Given the description of an element on the screen output the (x, y) to click on. 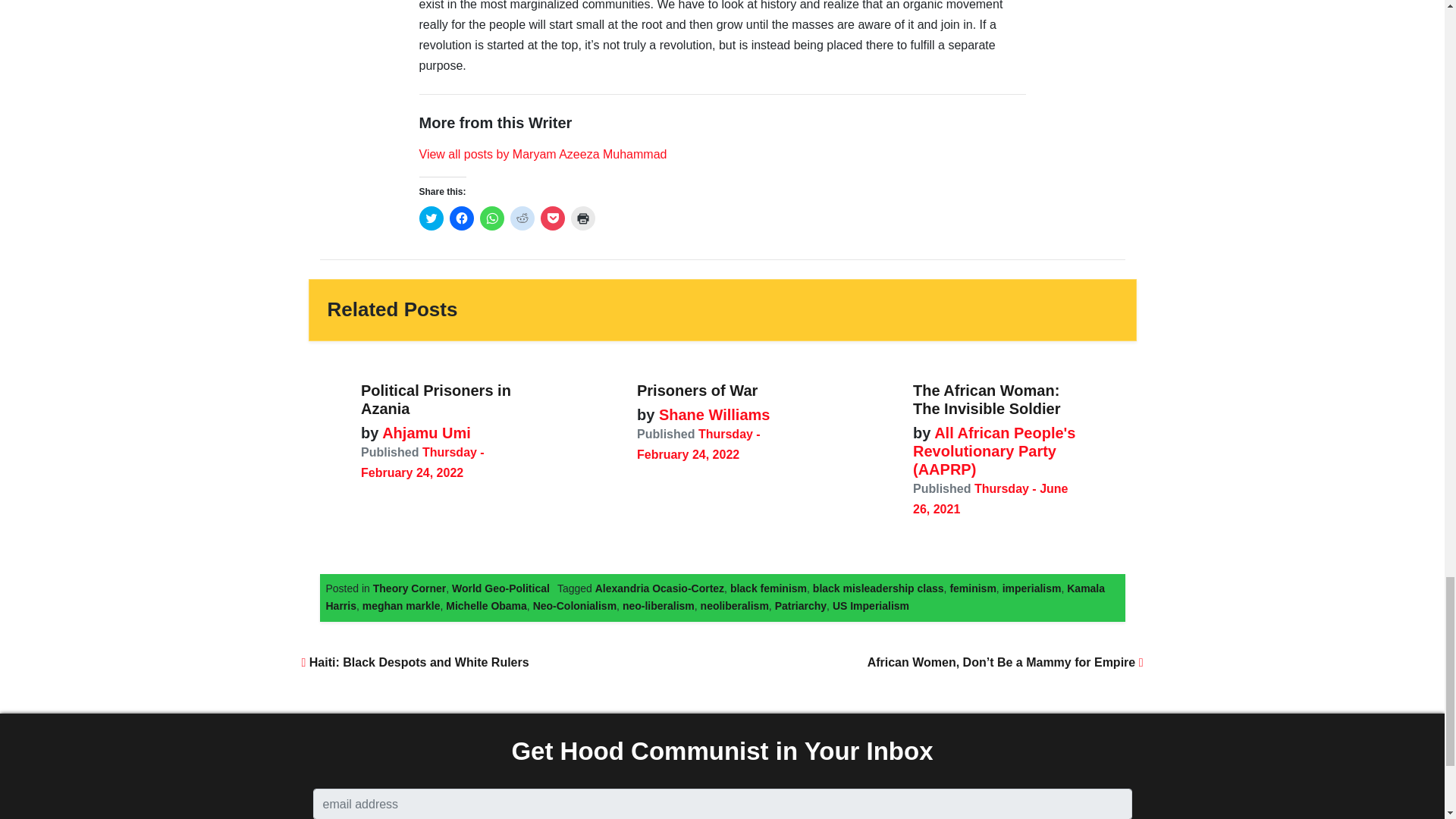
Political Prisoners in Azania (436, 399)
View all posts by Maryam Azeeza Muhammad (542, 154)
Thursday - June 26, 2021 (989, 498)
Click to share on Twitter (430, 218)
Thursday - February 24, 2022 (698, 444)
View all posts by this author. (542, 154)
Theory Corner (408, 588)
The African Woman: The Invisible Soldier (986, 399)
Shane Williams (711, 414)
Ahjamu Umi (424, 433)
Thursday - February 24, 2022 (422, 462)
Prisoners of War (697, 390)
World Geo-Political (500, 588)
